Given the description of an element on the screen output the (x, y) to click on. 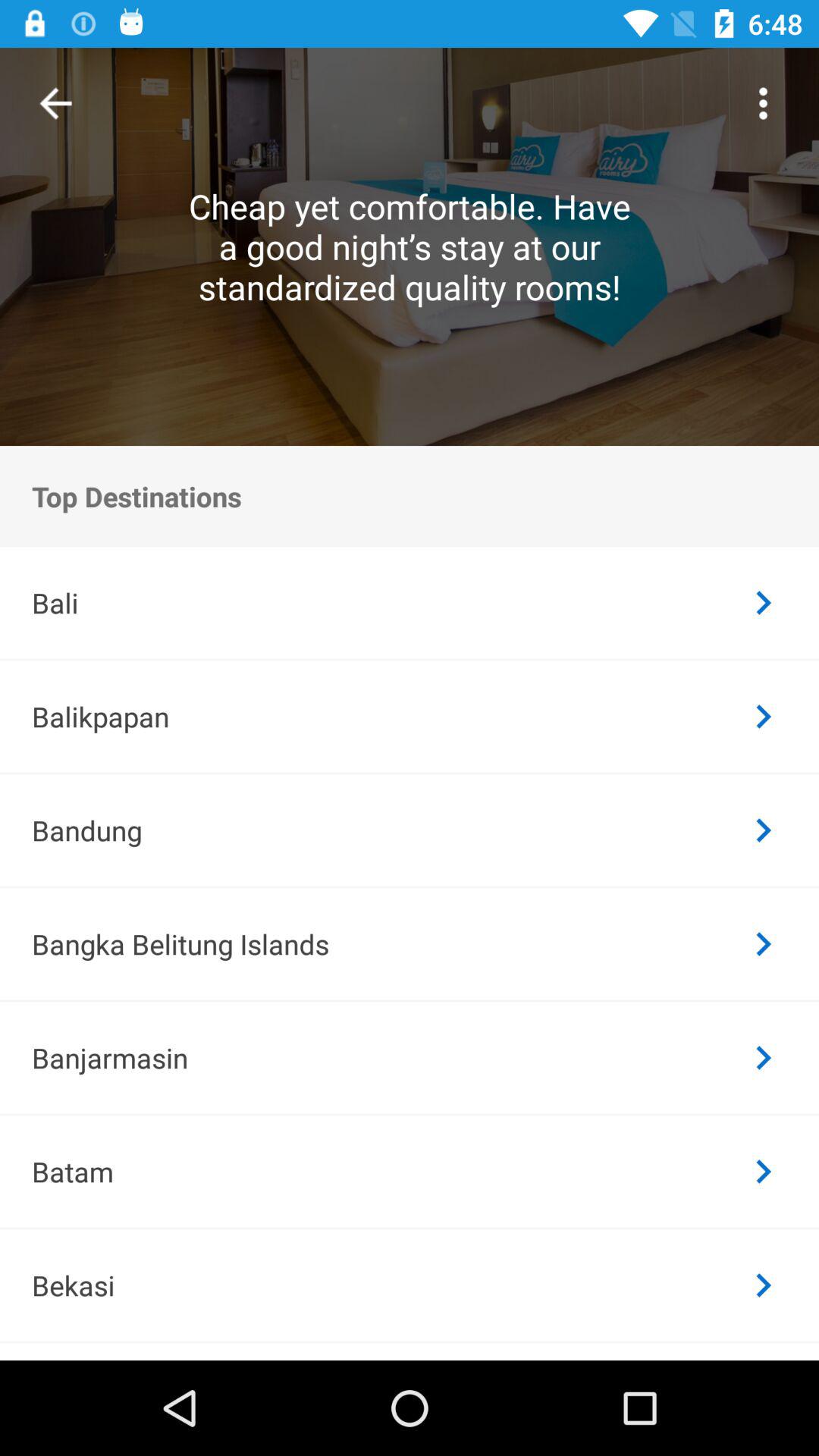
choose the icon next to cheap yet comfortable icon (55, 103)
